Given the description of an element on the screen output the (x, y) to click on. 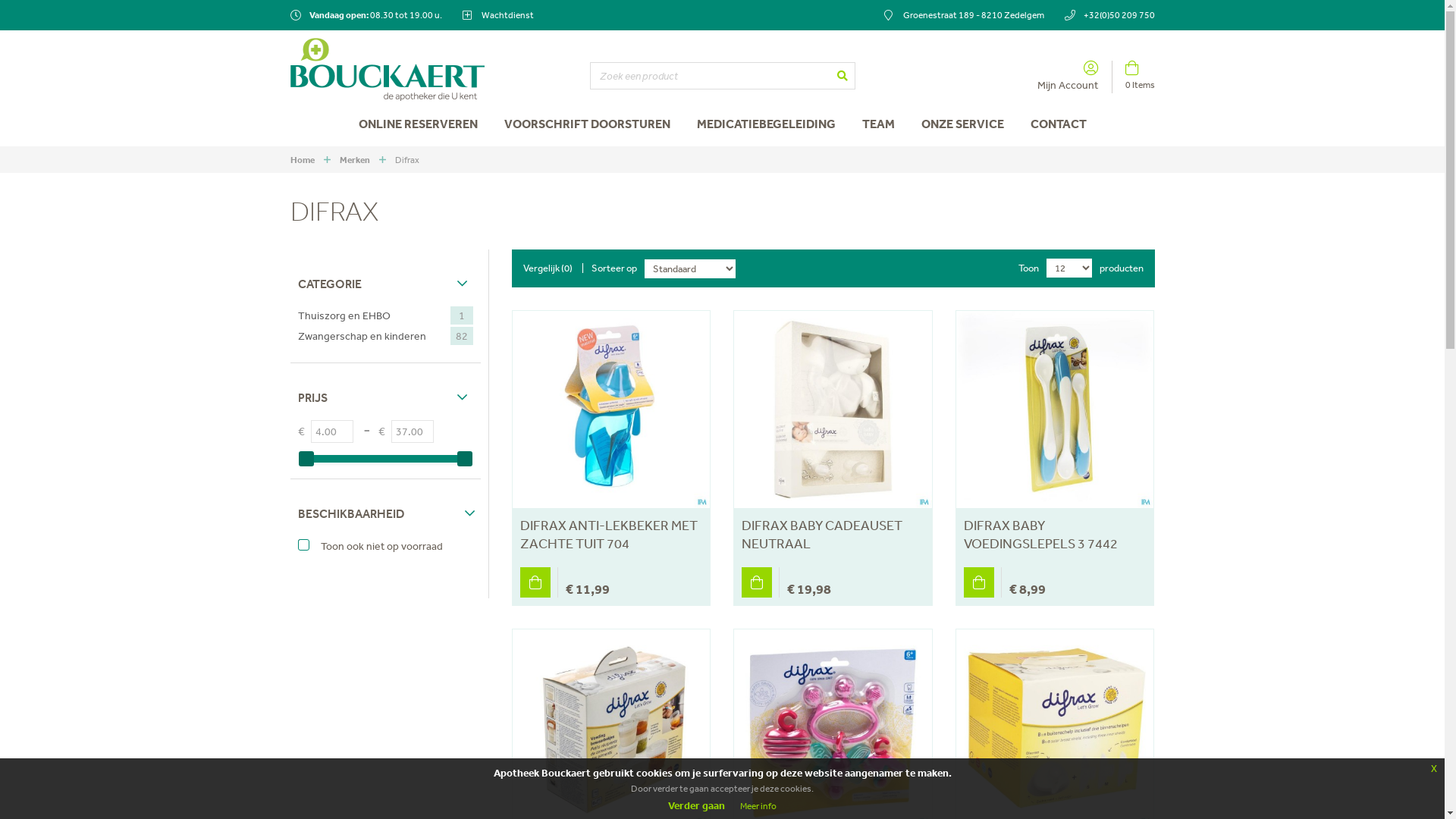
Meer info Element type: text (758, 806)
DIFRAX BABY VOEDINGSLEPELS 3 7442 Element type: text (1054, 533)
Wachtdienst Element type: text (497, 15)
Mijn Account Element type: text (1073, 77)
+32(0)50 209 750 Element type: text (1109, 15)
MEDICATIEBEGELEIDING Element type: text (766, 123)
Zwangerschap en kinderen Element type: text (376, 335)
IN WINKELMANDJE Element type: text (756, 582)
IN WINKELMANDJE Element type: text (535, 582)
ONLINE RESERVEREN Element type: text (418, 123)
VOORSCHRIFT DOORSTUREN Element type: text (586, 123)
0 Items Element type: text (1132, 76)
x Element type: text (1433, 768)
Vergelijk (0) Element type: text (547, 268)
DIFRAX BABY CADEAUSET NEUTRAAL Element type: text (832, 533)
Verder gaan Element type: text (696, 805)
TEAM Element type: text (878, 123)
IN WINKELMANDJE Element type: text (978, 582)
ONZE SERVICE Element type: text (962, 123)
CONTACT Element type: text (1058, 123)
Thuiszorg en EHBO Element type: text (358, 315)
Groenestraat 189 - 8210 Zedelgem Element type: text (964, 15)
DIFRAX ANTI-LEKBEKER MET ZACHTE TUIT 704 Element type: text (611, 533)
Home Element type: text (301, 159)
Vandaag open 08.30 tot 19.00 u. Element type: text (365, 15)
Merken Element type: text (354, 159)
